Given the description of an element on the screen output the (x, y) to click on. 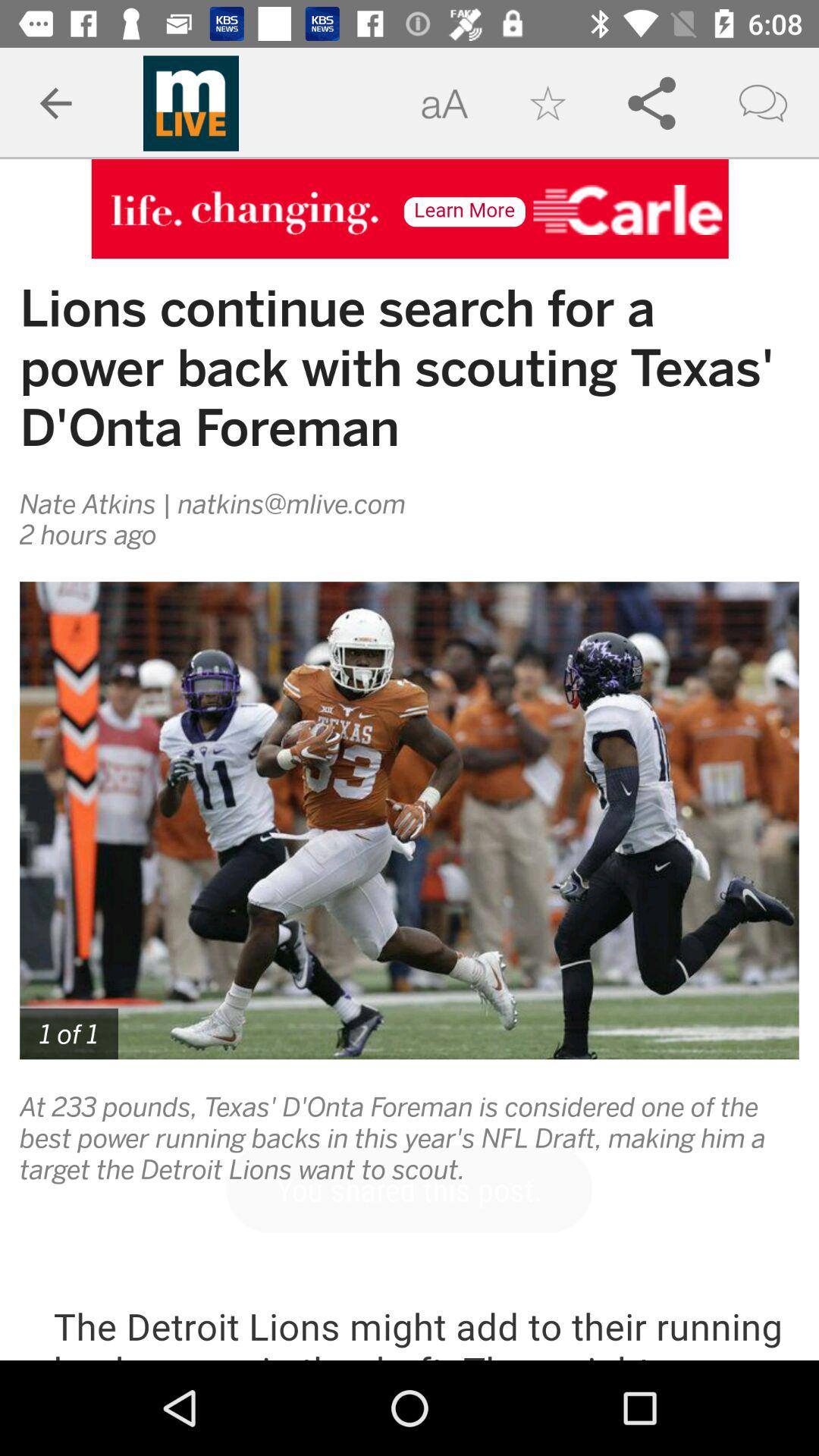
open advertisement (409, 208)
